Given the description of an element on the screen output the (x, y) to click on. 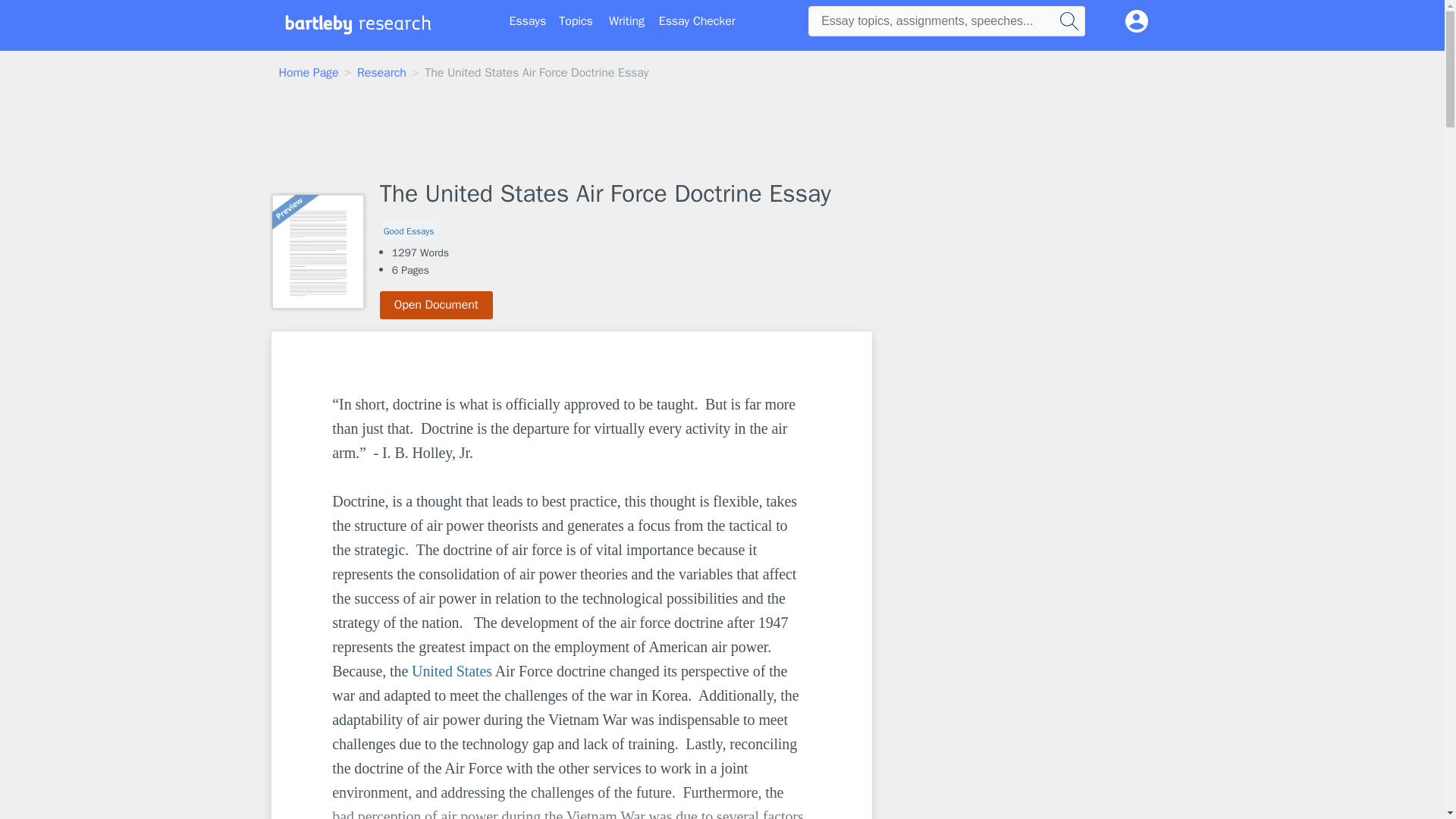
Writing (626, 20)
Topics (575, 20)
Open Document (436, 305)
Essay Checker (697, 20)
Essays (528, 20)
Research (381, 72)
Home Page (309, 72)
United States (452, 670)
